Given the description of an element on the screen output the (x, y) to click on. 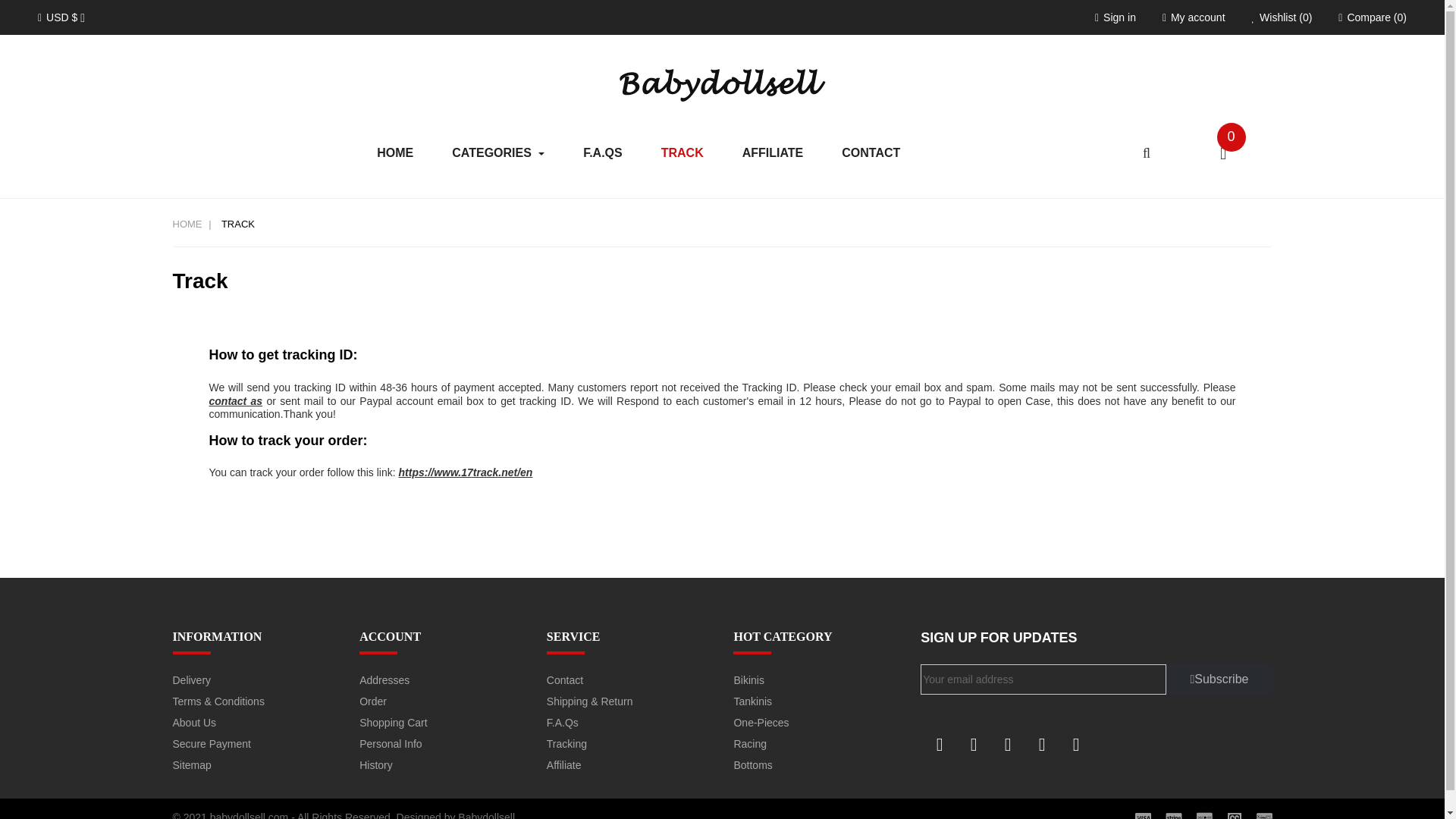
My account (1193, 17)
Sign in (1114, 18)
My account (1193, 18)
Log in to your customer account (1114, 17)
CATEGORIES (497, 153)
Compare (1372, 17)
AFFILIATE (772, 153)
Wishlist (1282, 17)
TRACK (682, 153)
CONTACT (870, 153)
